Given the description of an element on the screen output the (x, y) to click on. 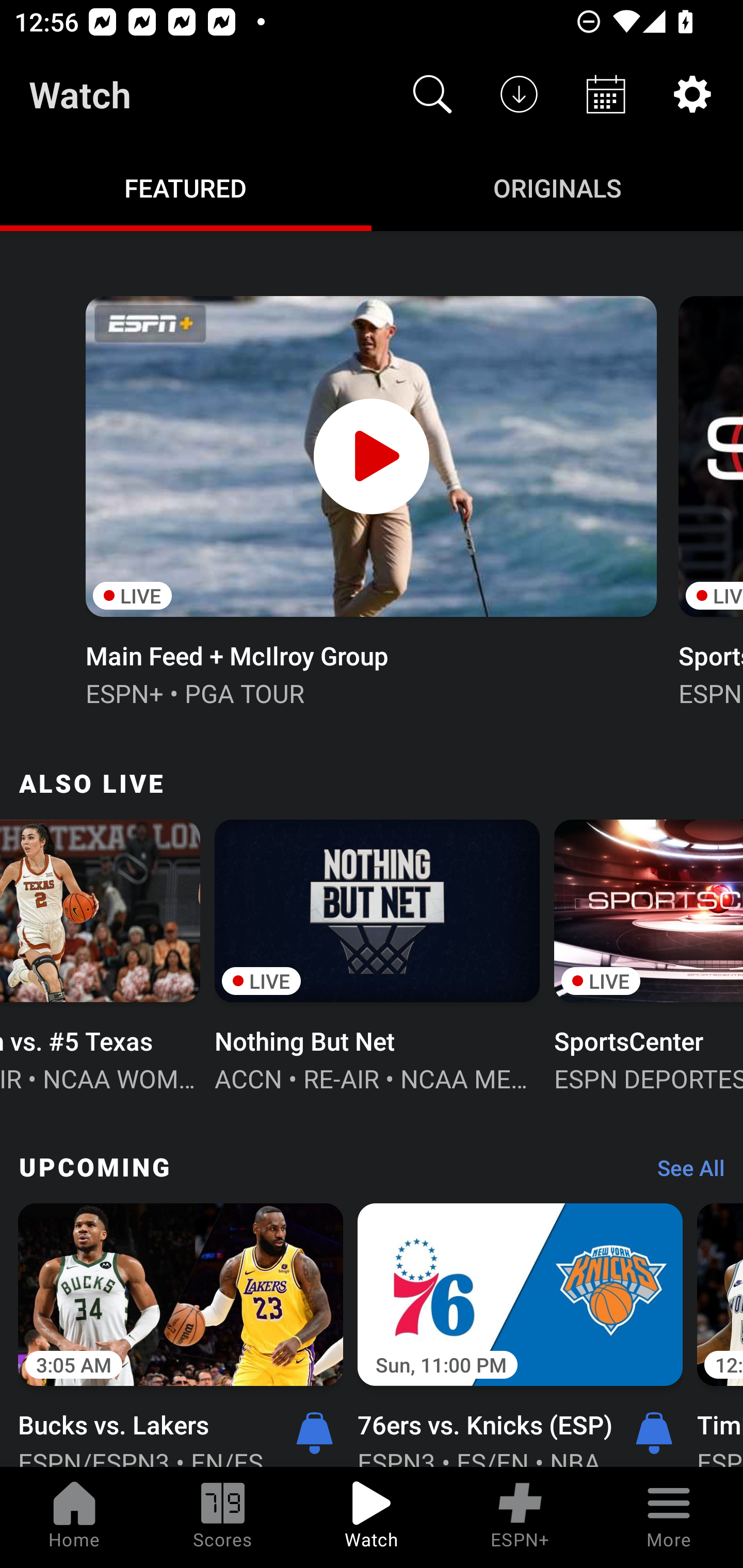
Search (432, 93)
Downloads (518, 93)
Schedule (605, 93)
Settings (692, 93)
Originals ORIGINALS (557, 187)
 LIVE Main Feed + McIlroy Group ESPN+ • PGA TOUR (370, 499)
See All (683, 1172)
Home (74, 1517)
Scores (222, 1517)
ESPN+ (519, 1517)
More (668, 1517)
